Given the description of an element on the screen output the (x, y) to click on. 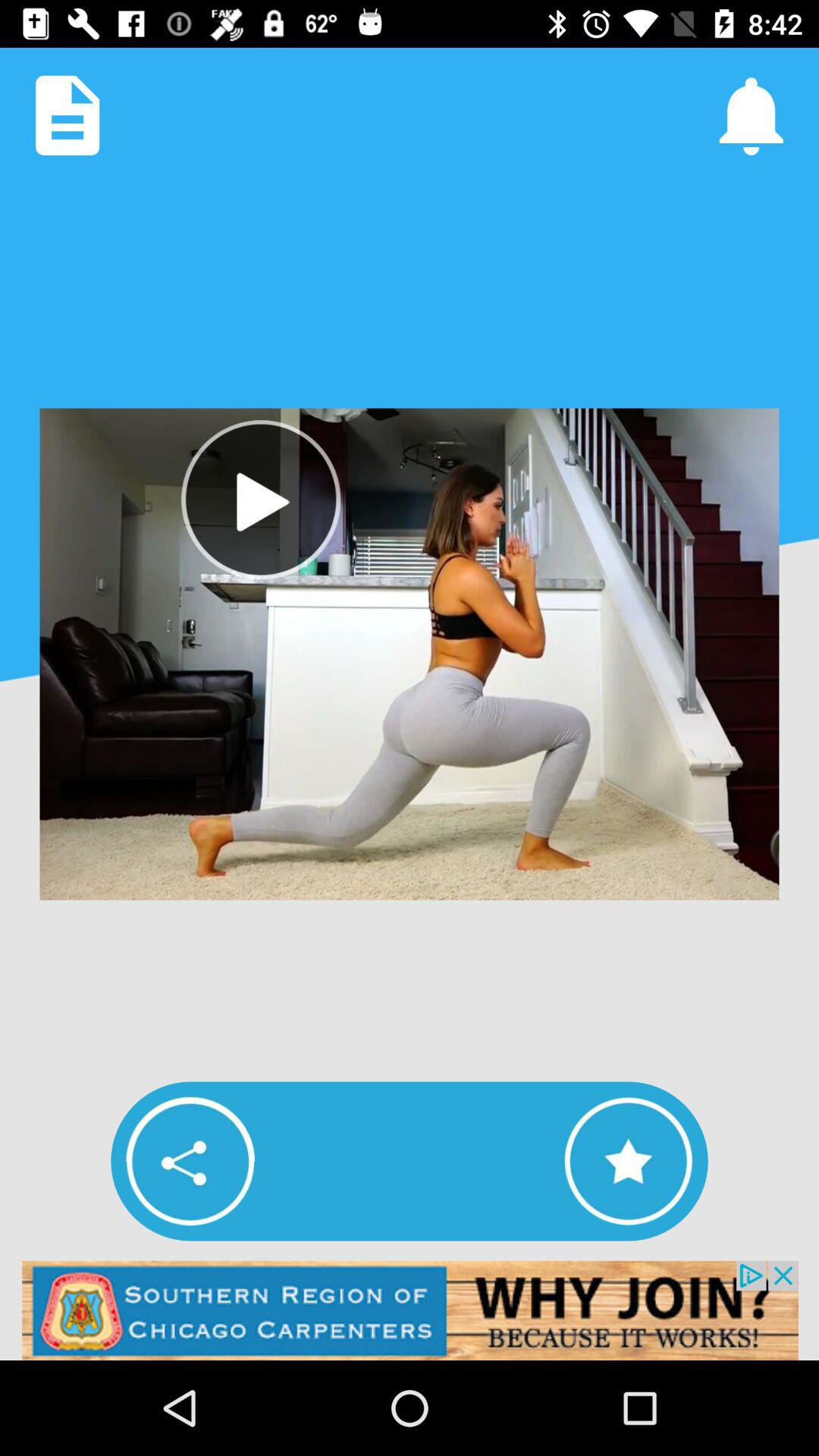
admin (409, 1310)
